Given the description of an element on the screen output the (x, y) to click on. 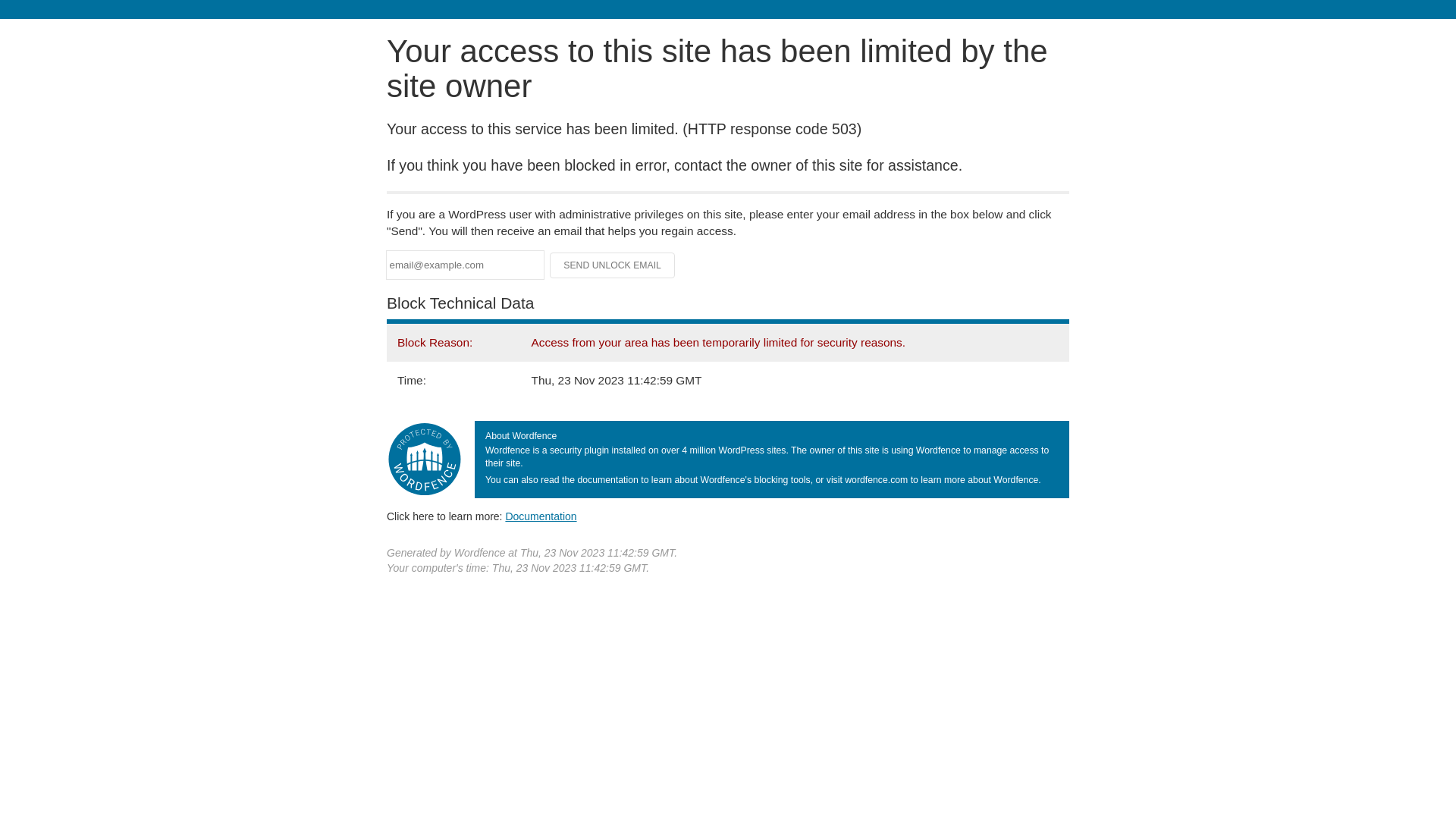
Documentation Element type: text (540, 516)
Send Unlock Email Element type: text (612, 265)
